Given the description of an element on the screen output the (x, y) to click on. 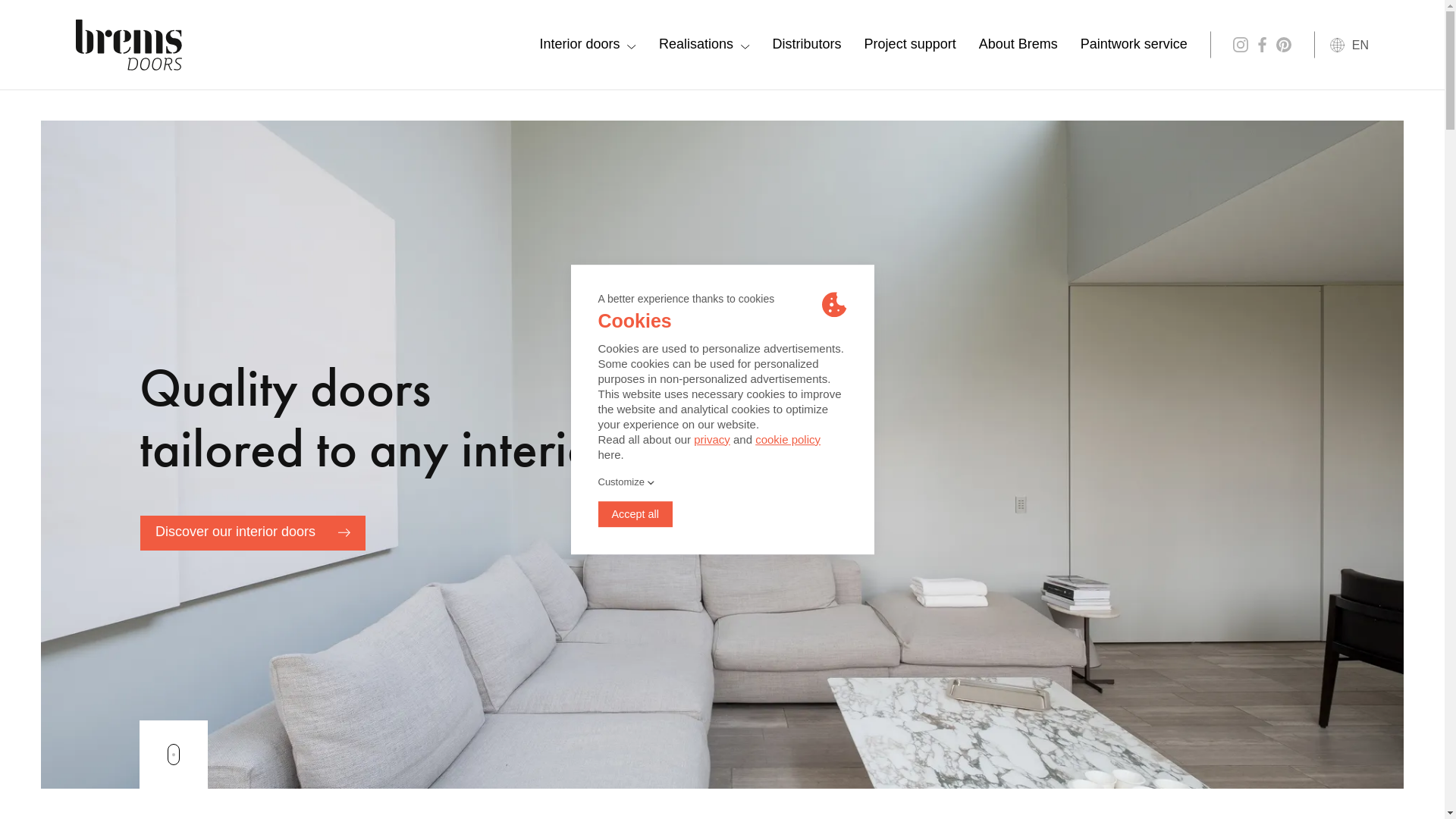
Project support Element type: text (910, 44)
Discover our interior doors Element type: text (252, 533)
Distributors Element type: text (806, 44)
Interior doors Element type: text (587, 44)
Realisations Element type: text (703, 44)
About Brems Element type: text (1018, 44)
Paintwork service Element type: text (1133, 44)
